Given the description of an element on the screen output the (x, y) to click on. 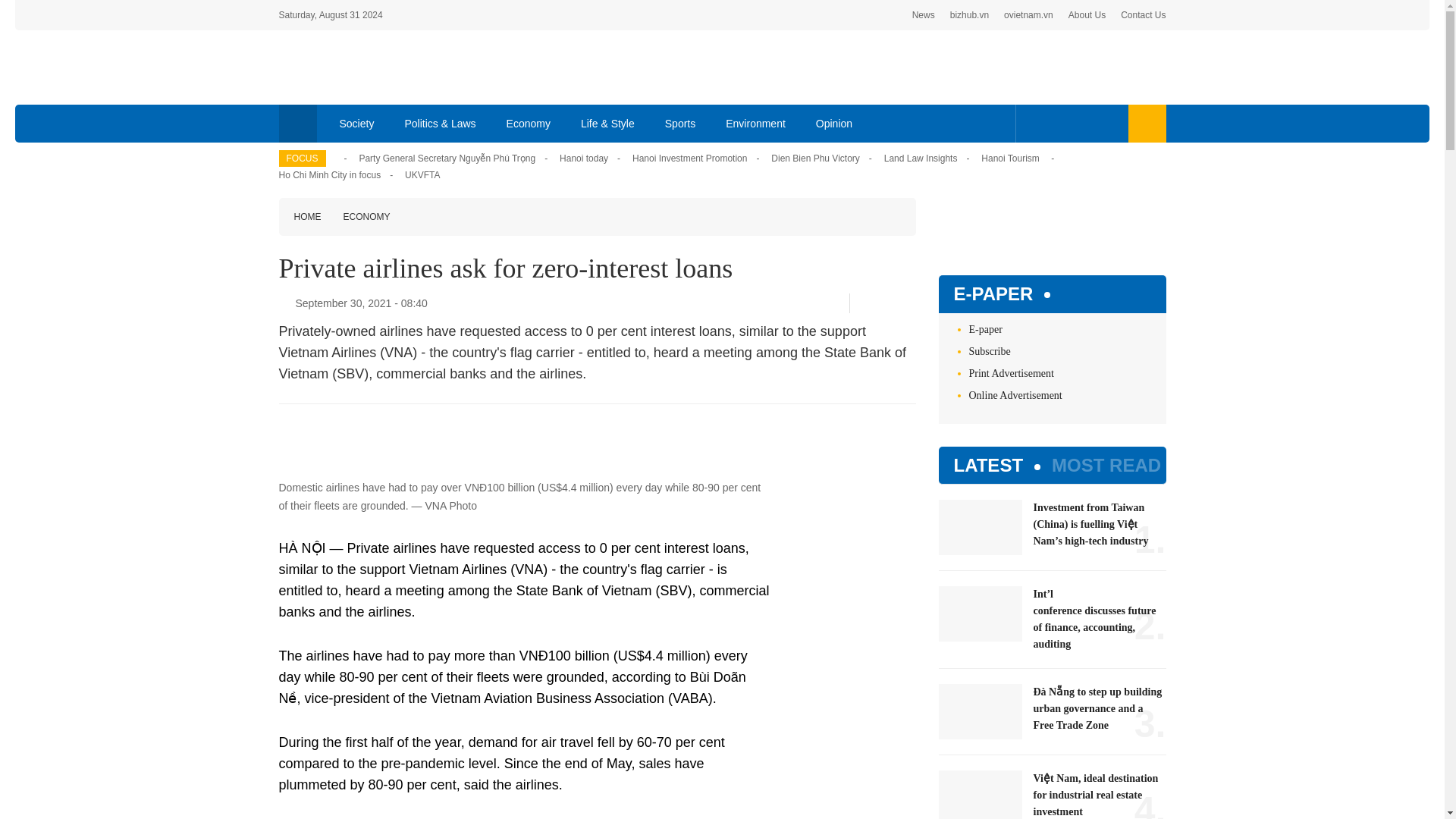
Economy (529, 123)
Twitter (885, 303)
Facebook (1035, 123)
ovietnam.vn (1028, 15)
News (923, 15)
Opinion (833, 123)
Twitter (1056, 122)
Youtube (1081, 122)
Instagram (1106, 123)
About Us (1086, 15)
